Given the description of an element on the screen output the (x, y) to click on. 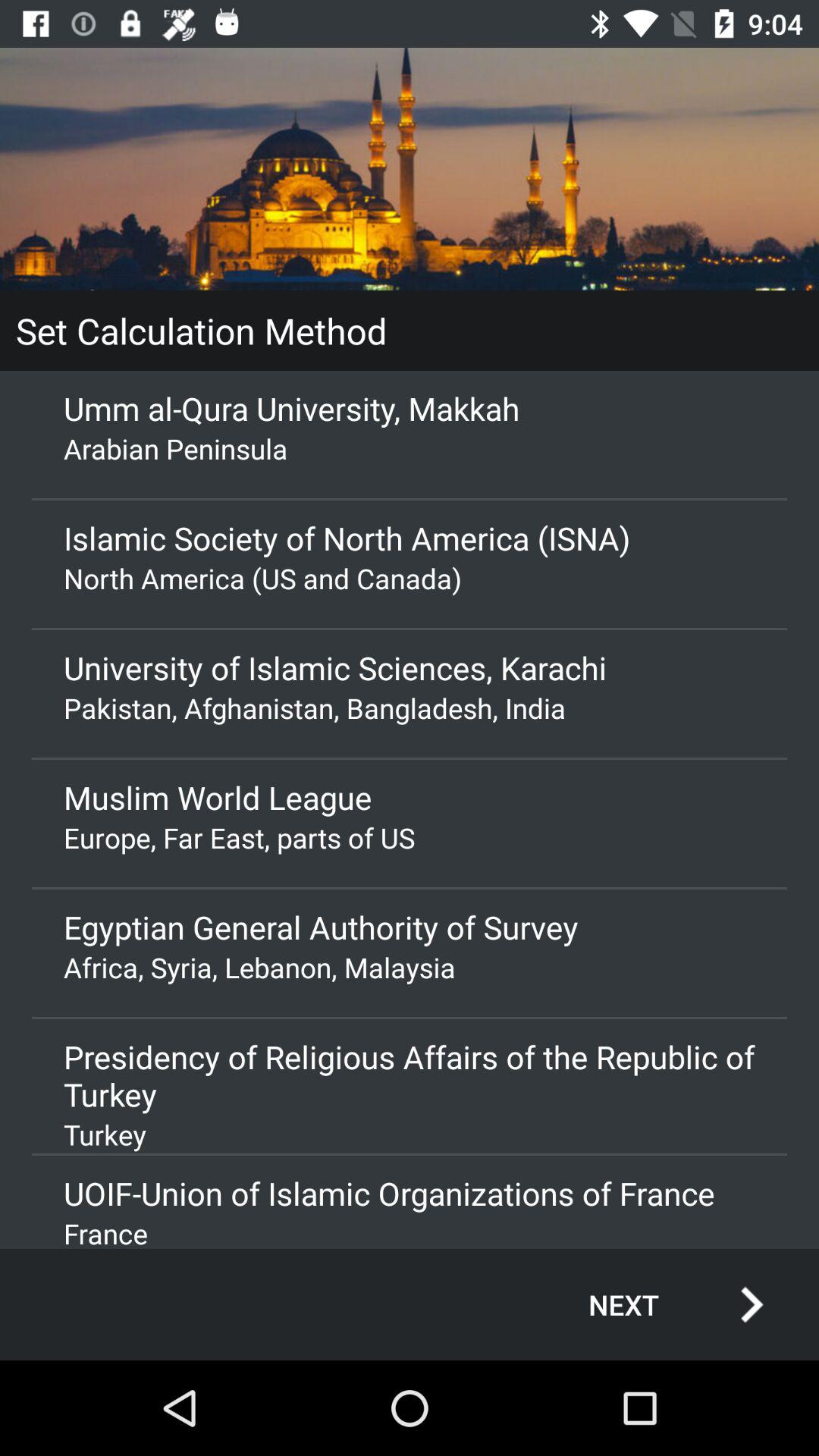
select pakistan afghanistan bangladesh icon (409, 707)
